Given the description of an element on the screen output the (x, y) to click on. 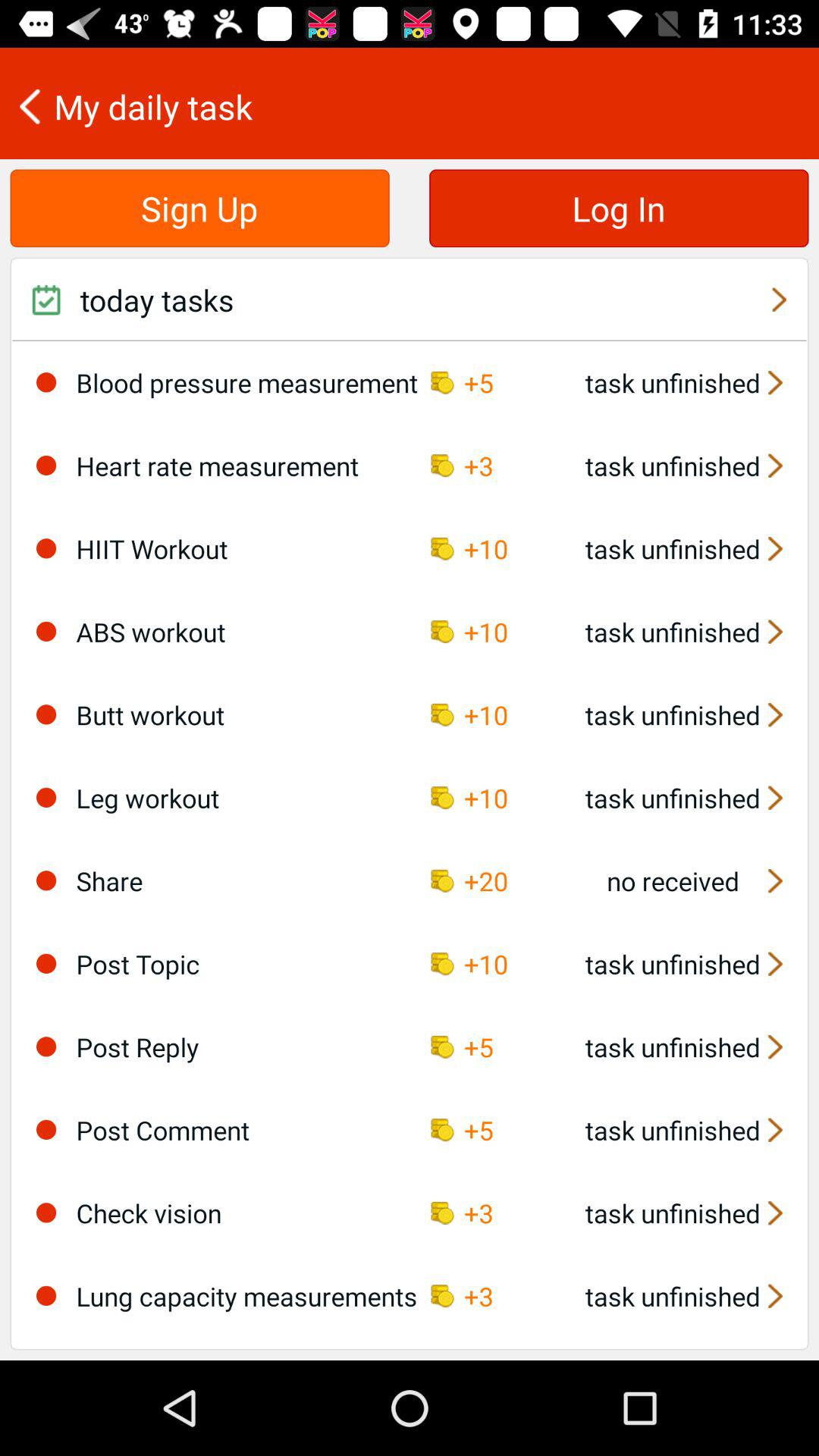
press item to the left of blood pressure measurement (46, 382)
